Given the description of an element on the screen output the (x, y) to click on. 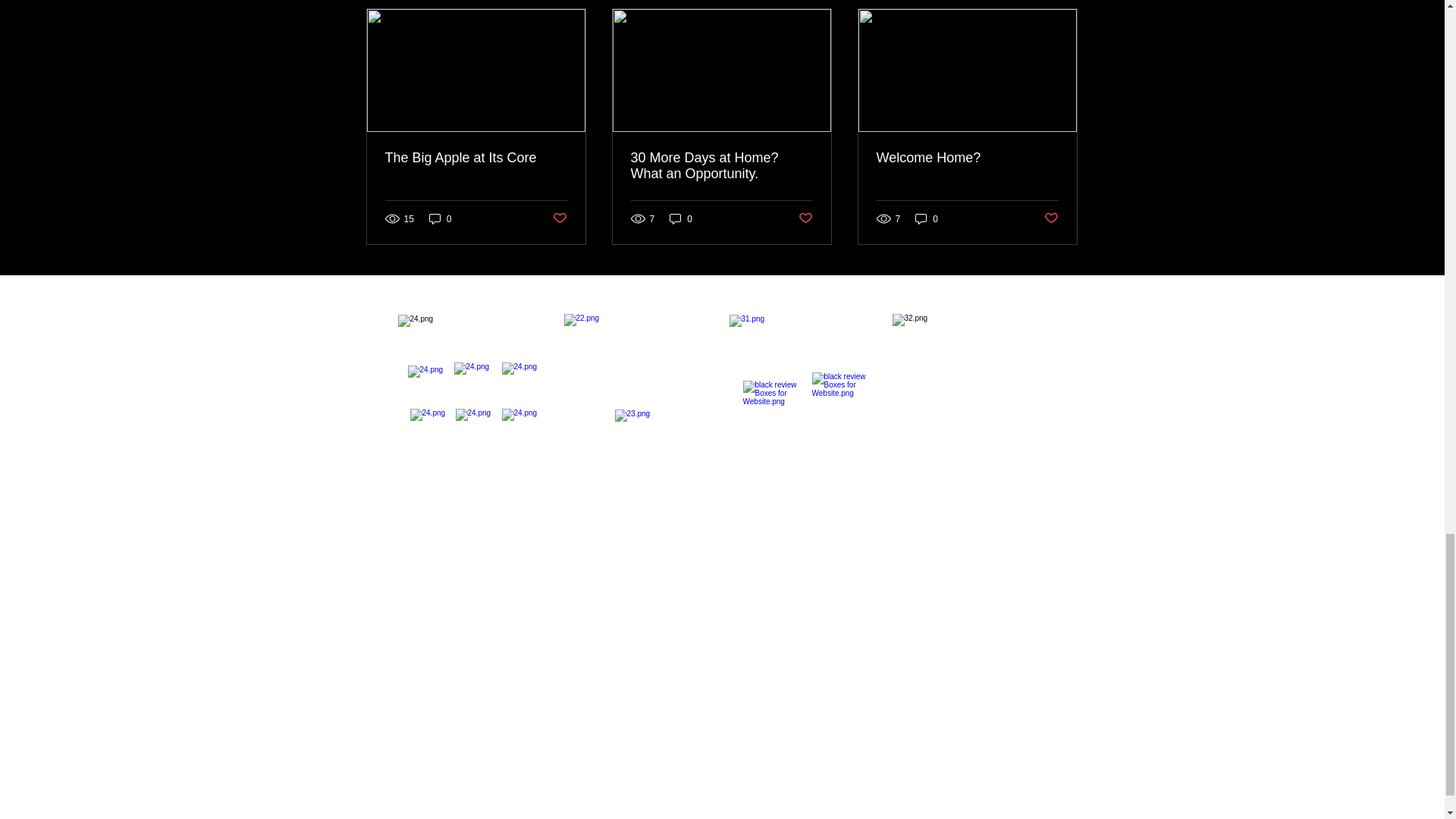
purple square.png (641, 390)
purple square.png (968, 390)
purple square.png (775, 409)
purple square.png (523, 383)
purple square.png (474, 429)
purple square.png (474, 383)
purple square.png (474, 391)
purple square.png (429, 385)
purple square.png (806, 391)
purple square.png (643, 432)
